Given the description of an element on the screen output the (x, y) to click on. 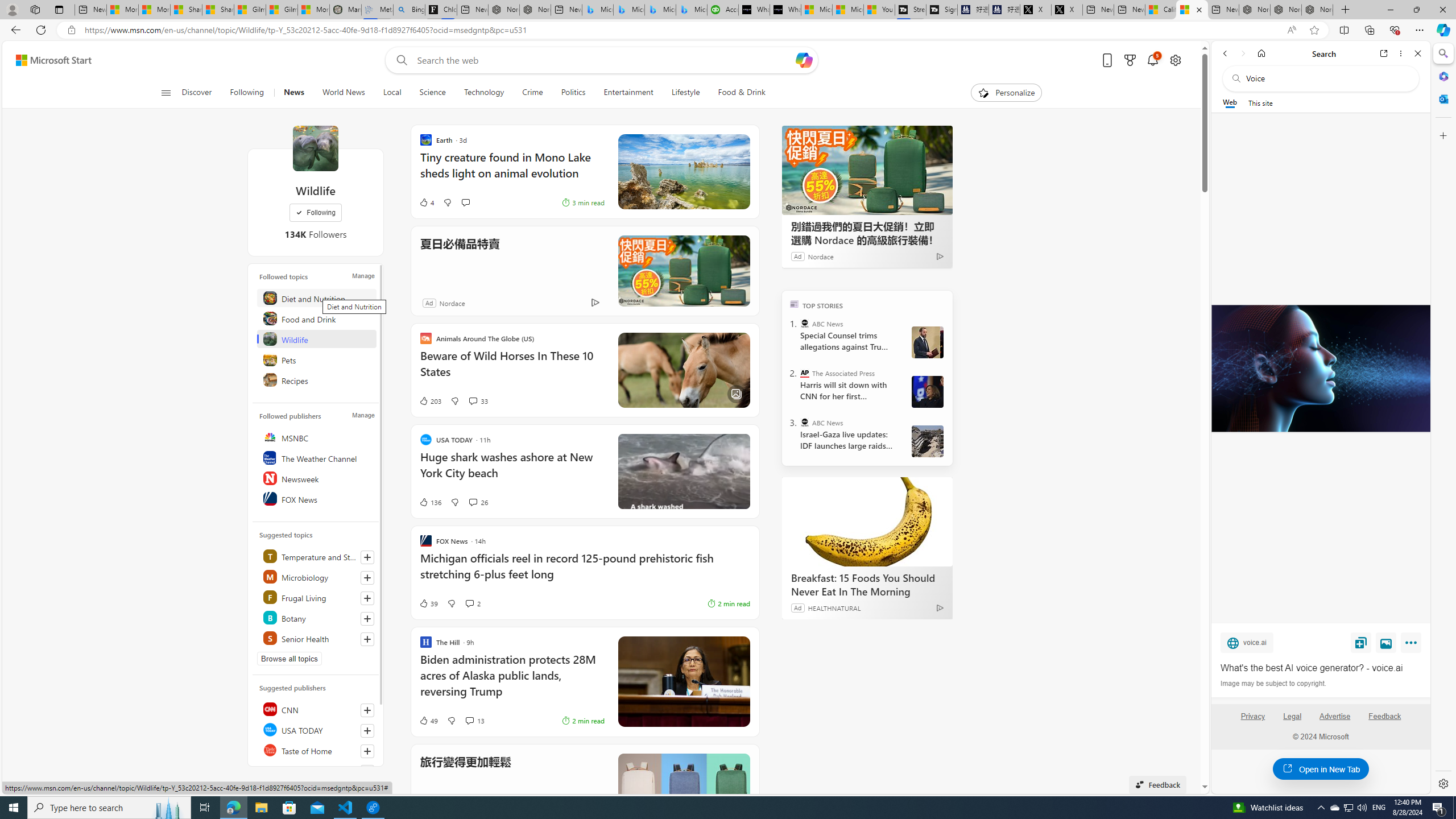
Follow this topic (367, 639)
Personalize (1006, 92)
Enter your search term (603, 59)
Settings (1442, 783)
View comments 26 Comment (472, 501)
Follow this source (367, 771)
World News (343, 92)
Web scope (1230, 102)
Microsoft rewards (1129, 60)
